Given the description of an element on the screen output the (x, y) to click on. 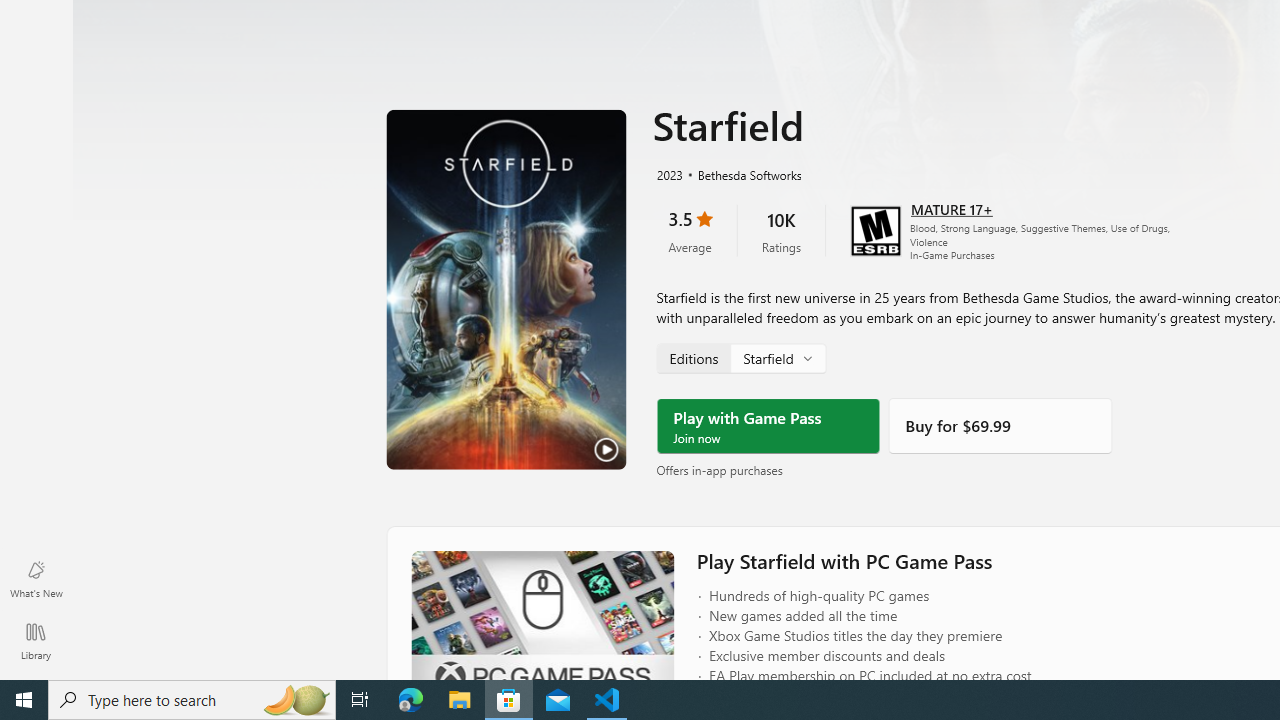
Play Trailer (505, 288)
Age rating: MATURE 17+. Click for more information. (951, 208)
Buy (1000, 426)
Library (35, 640)
Starfield, Edition selector (740, 357)
Play with Game Pass (767, 426)
What's New (35, 578)
2023 (667, 173)
3.5 stars. Click to skip to ratings and reviews (689, 229)
Bethesda Softworks (741, 173)
